Given the description of an element on the screen output the (x, y) to click on. 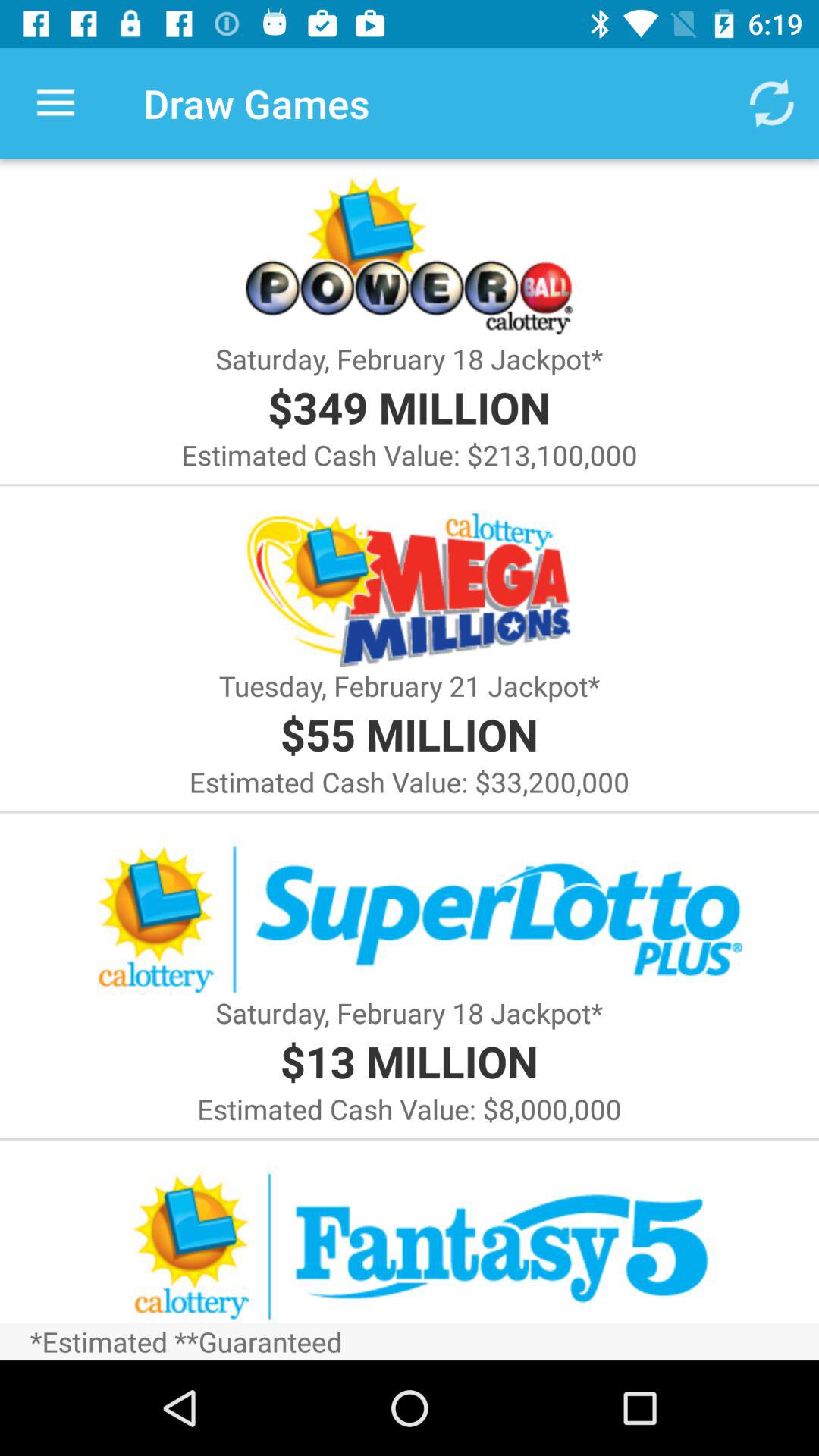
open the item at the top right corner (771, 103)
